Given the description of an element on the screen output the (x, y) to click on. 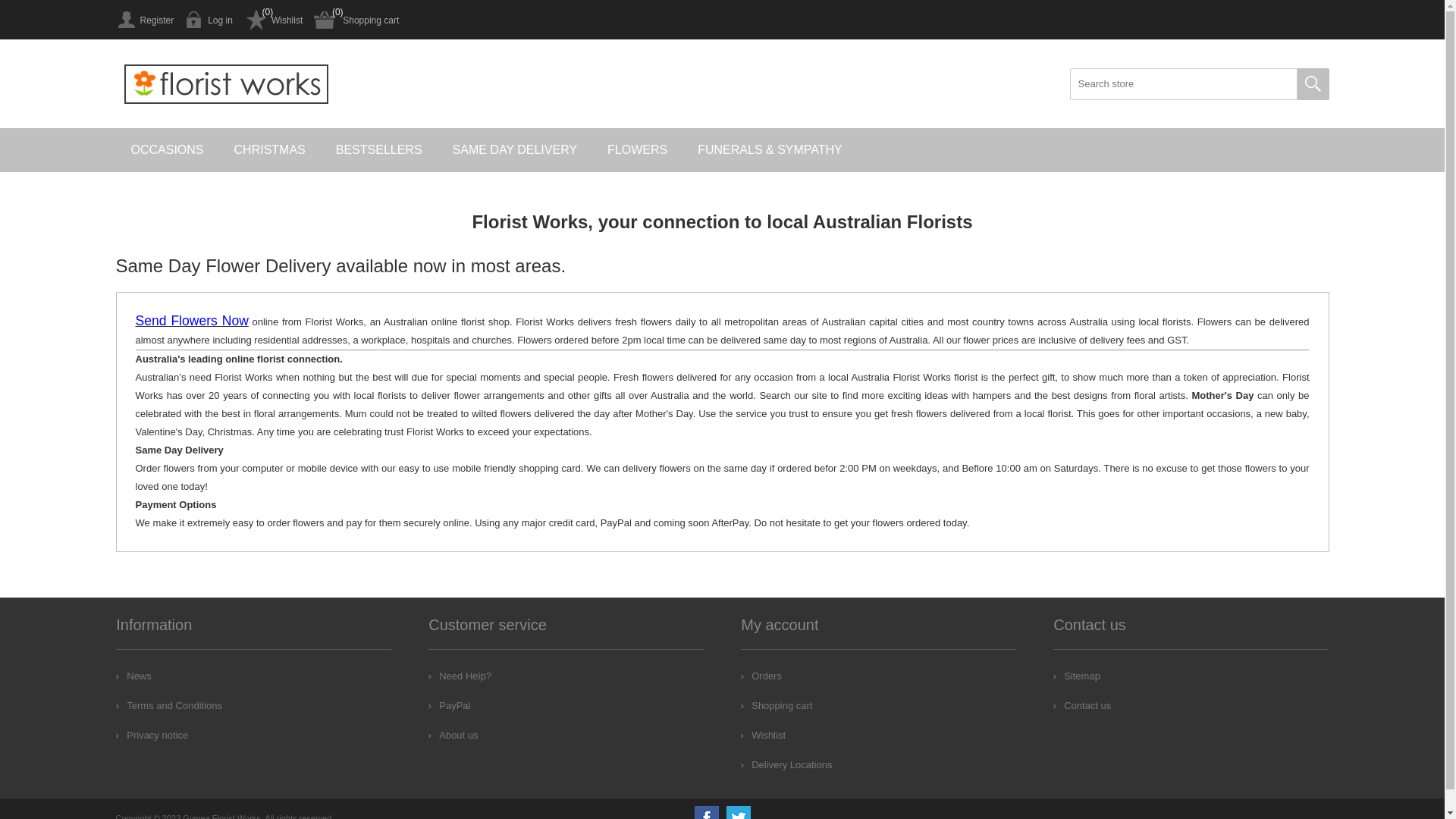
SAME DAY DELIVERY Element type: text (515, 150)
Delivery Locations Element type: text (785, 764)
FLOWERS Element type: text (637, 150)
Contact us Element type: text (1081, 705)
Need Help? Element type: text (459, 675)
Send Flowers Now Element type: text (190, 321)
Register Element type: text (144, 19)
BESTSELLERS Element type: text (378, 150)
Wishlist Element type: text (273, 19)
Sitemap Element type: text (1076, 675)
About us Element type: text (452, 734)
Wishlist Element type: text (762, 734)
News Element type: text (133, 675)
Terms and Conditions Element type: text (169, 705)
Search Element type: text (1312, 84)
FUNERALS & SYMPATHY Element type: text (769, 150)
PayPal Element type: text (449, 705)
Privacy notice Element type: text (152, 734)
OCCASIONS Element type: text (166, 150)
CHRISTMAS Element type: text (269, 150)
Log in Element type: text (208, 19)
Shopping cart Element type: text (355, 19)
Shopping cart Element type: text (776, 705)
Orders Element type: text (760, 675)
